Given the description of an element on the screen output the (x, y) to click on. 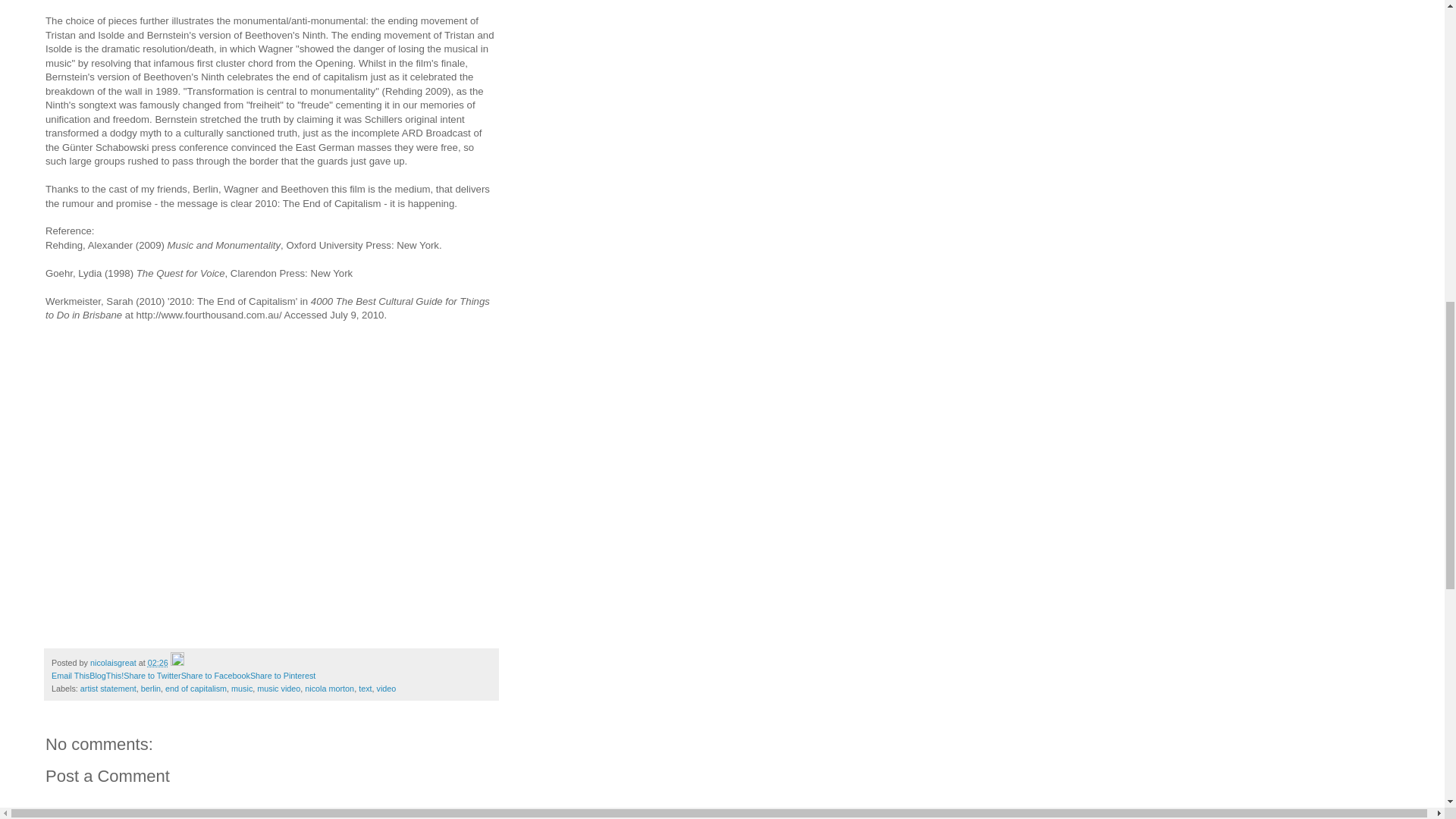
permanent link (158, 662)
Share to Twitter (151, 675)
nicola morton (328, 687)
Share to Facebook (215, 675)
BlogThis! (105, 675)
Email This (69, 675)
artist statement (108, 687)
02:26 (158, 662)
Share to Pinterest (282, 675)
berlin (150, 687)
Share to Pinterest (282, 675)
music video (278, 687)
text (364, 687)
end of capitalism (196, 687)
nicolaisgreat (114, 662)
